Given the description of an element on the screen output the (x, y) to click on. 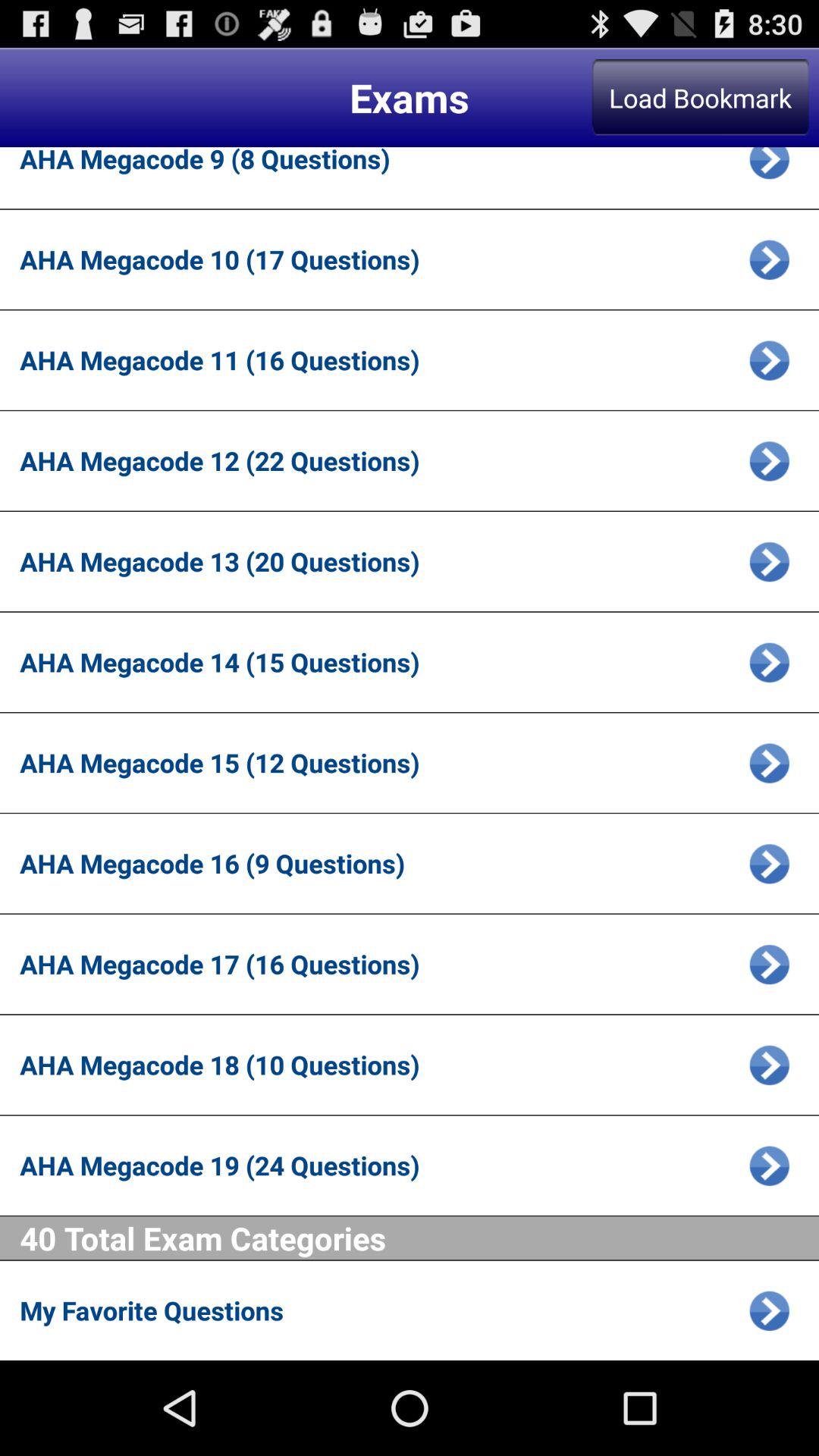
go to (769, 360)
